Given the description of an element on the screen output the (x, y) to click on. 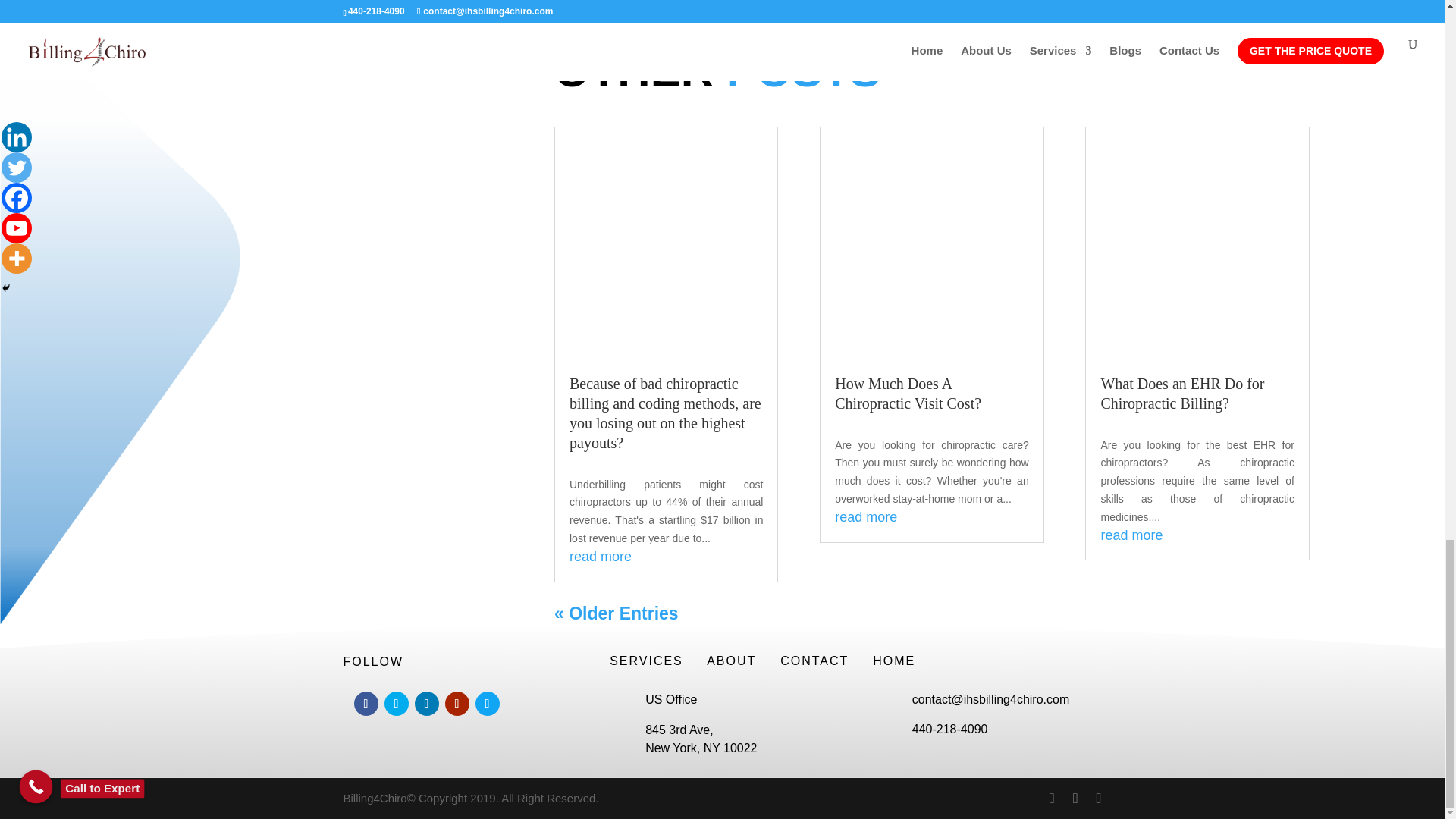
Follow on Youtube (456, 703)
Follow on Twitter (395, 703)
Follow on skype (486, 703)
Follow on LinkedIn (425, 703)
Follow on Facebook (365, 703)
